Given the description of an element on the screen output the (x, y) to click on. 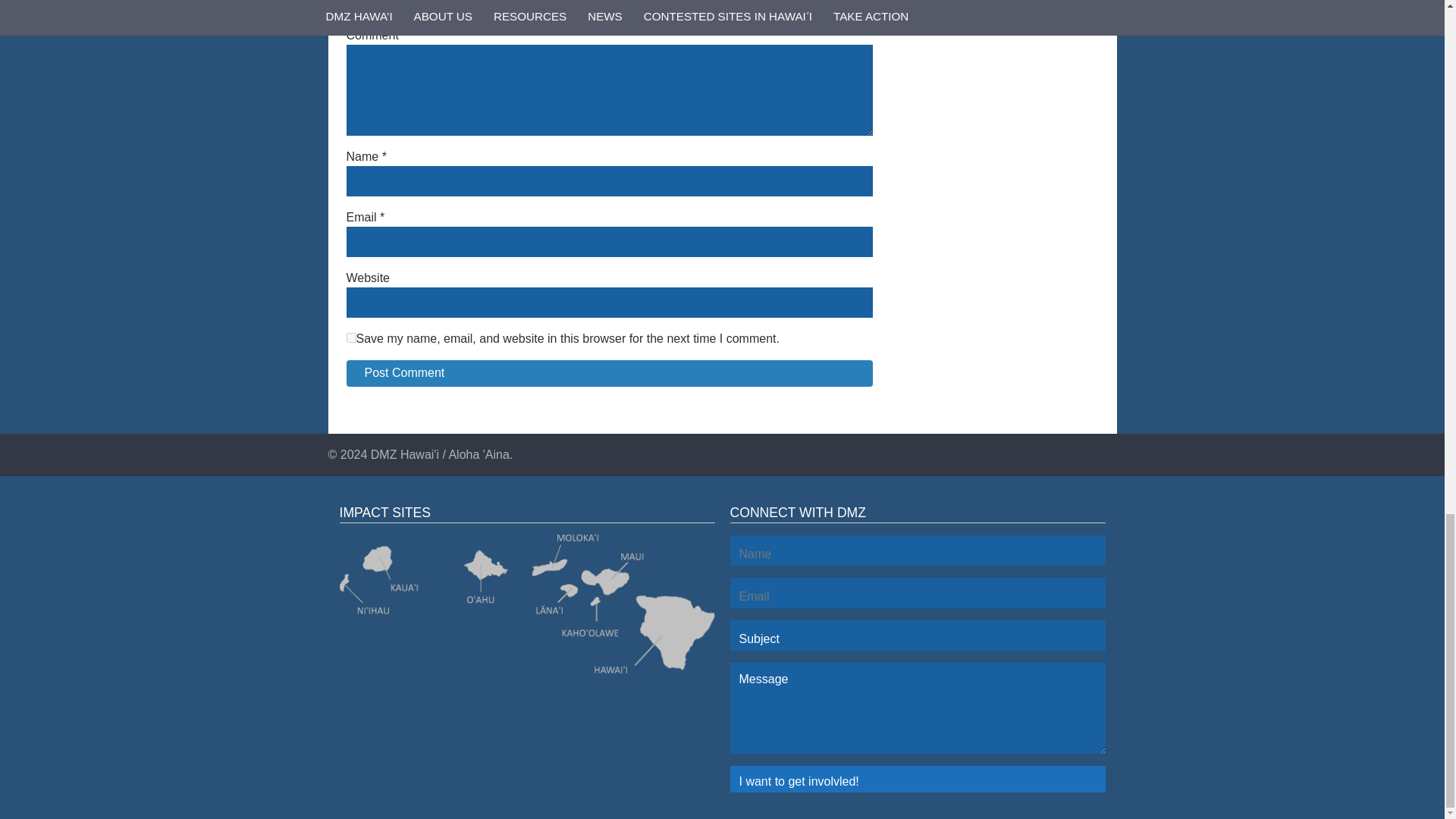
Subject (917, 634)
I want to get involvled! (917, 778)
yes (350, 337)
Post Comment (609, 373)
Post Comment (609, 373)
